Given the description of an element on the screen output the (x, y) to click on. 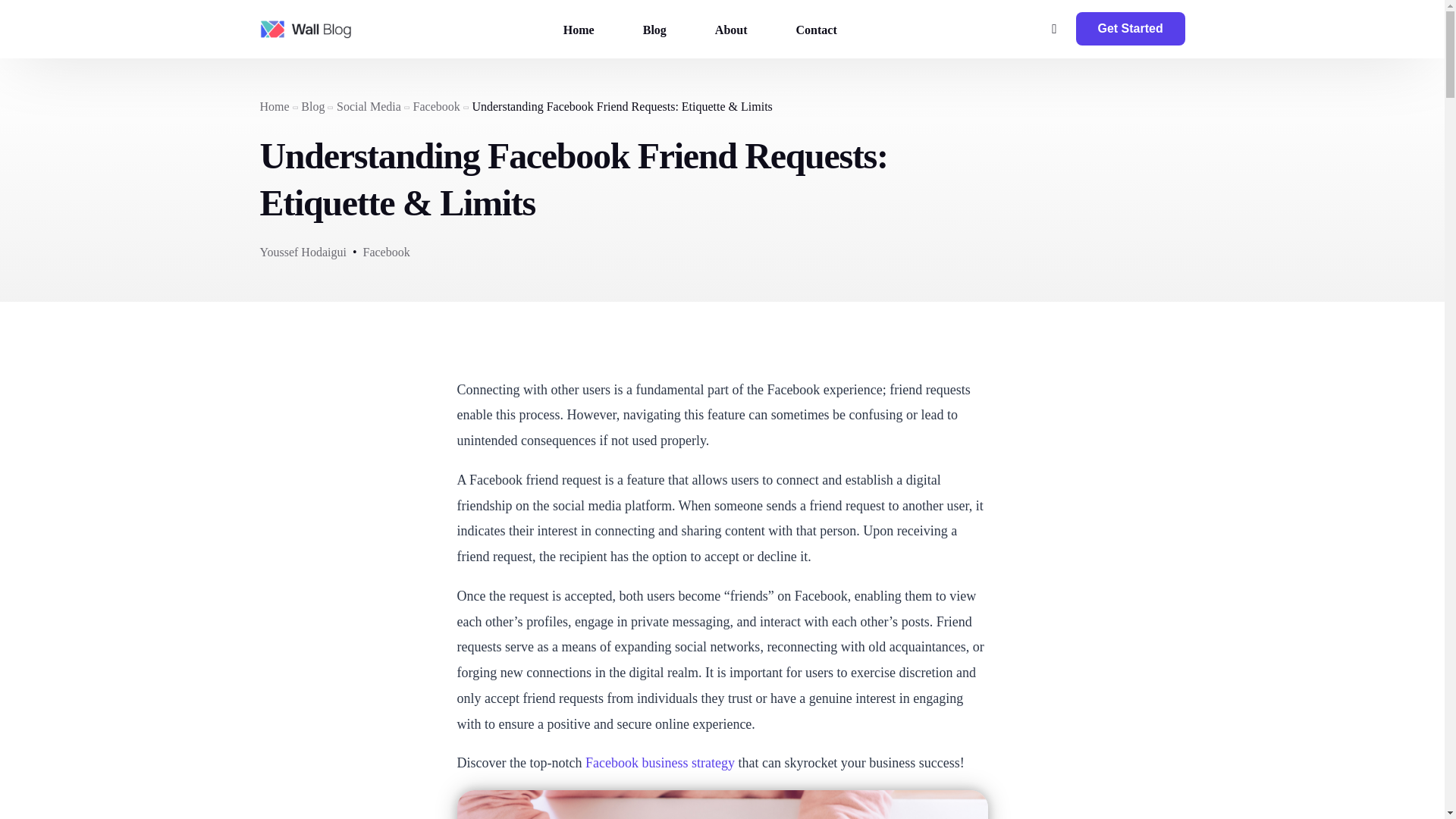
Get Started (1130, 28)
Contact (816, 29)
Youssef Hodaigui (302, 251)
Facebook (436, 106)
Home (273, 106)
Facebook (385, 251)
Blog (312, 106)
Home (578, 29)
Facebook business strategy (660, 762)
Social Media (368, 106)
